Given the description of an element on the screen output the (x, y) to click on. 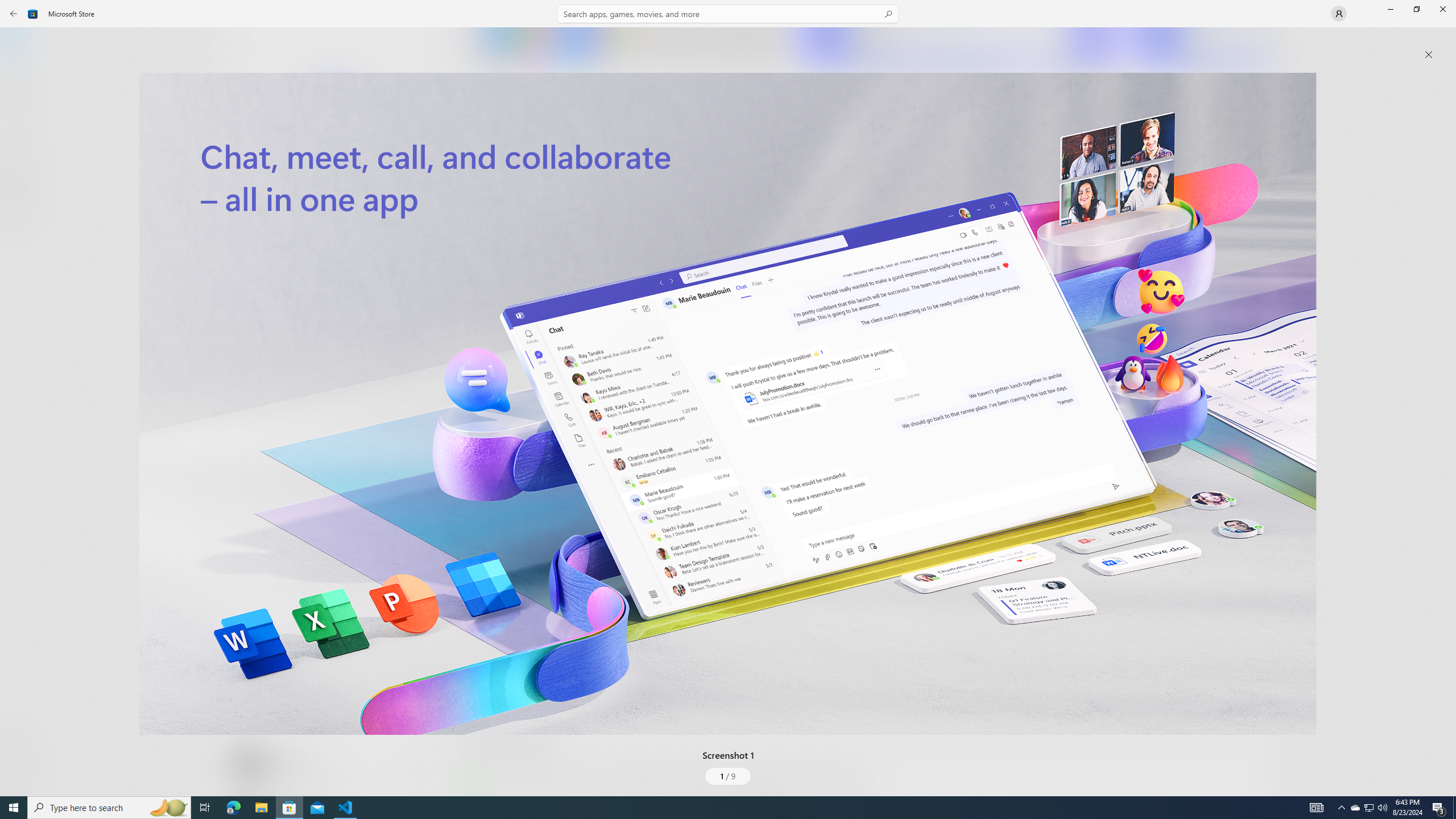
close popup window (1428, 54)
Sign in to review (501, 379)
Show all ratings and reviews (477, 527)
Show all ratings and reviews (1253, 281)
Minimize Microsoft Store (1390, 9)
AutomationID: NavigationControl (728, 398)
Close Microsoft Store (1442, 9)
User profile (1338, 13)
Back (13, 13)
Screenshot 2 (959, 46)
Microsoft Corporation (383, 189)
Arcade (20, 150)
Install (334, 244)
Apps (20, 80)
Screenshot 3 (1201, 46)
